Given the description of an element on the screen output the (x, y) to click on. 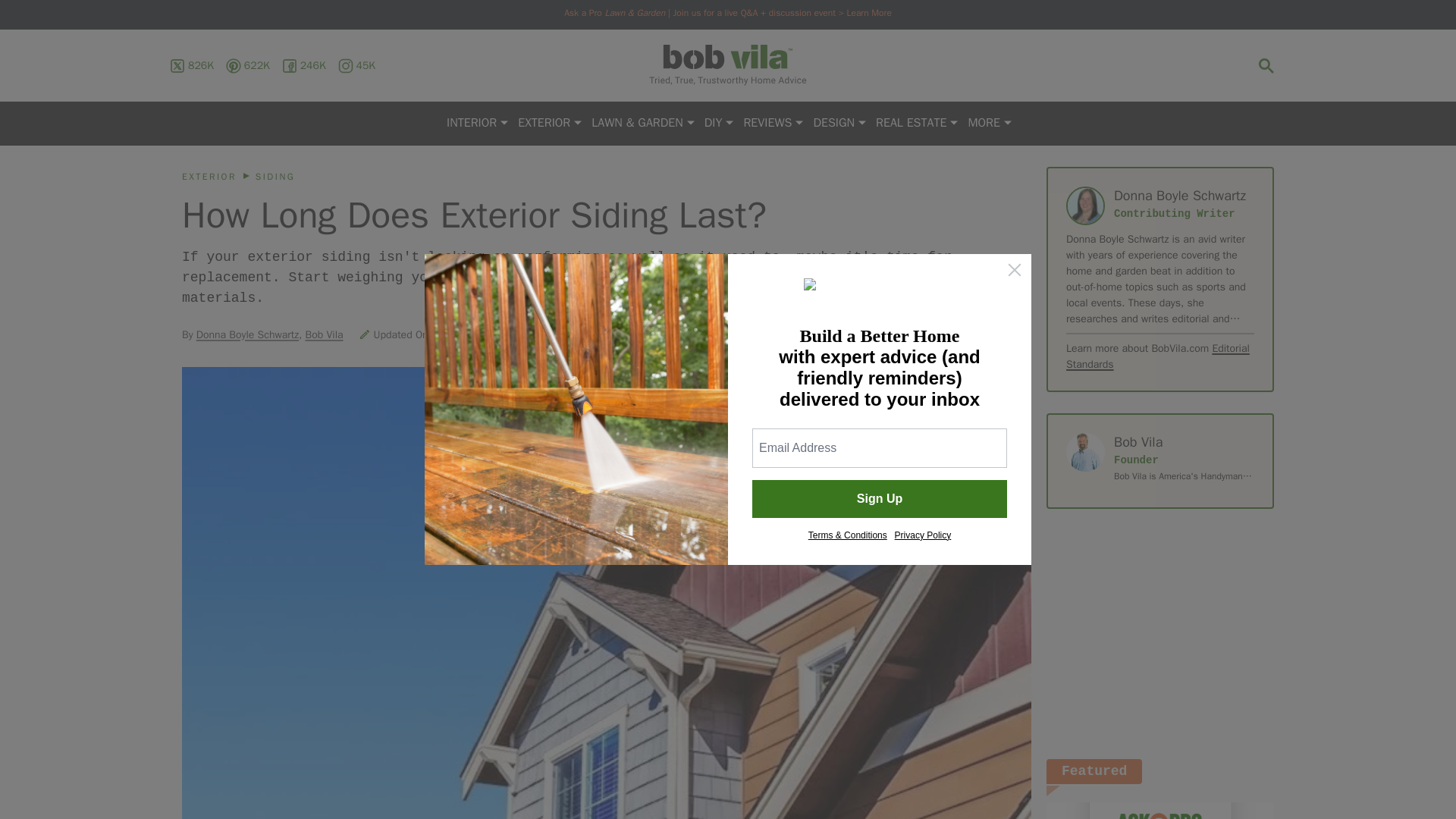
Learn More (868, 12)
3rd party ad content (1160, 633)
